Given the description of an element on the screen output the (x, y) to click on. 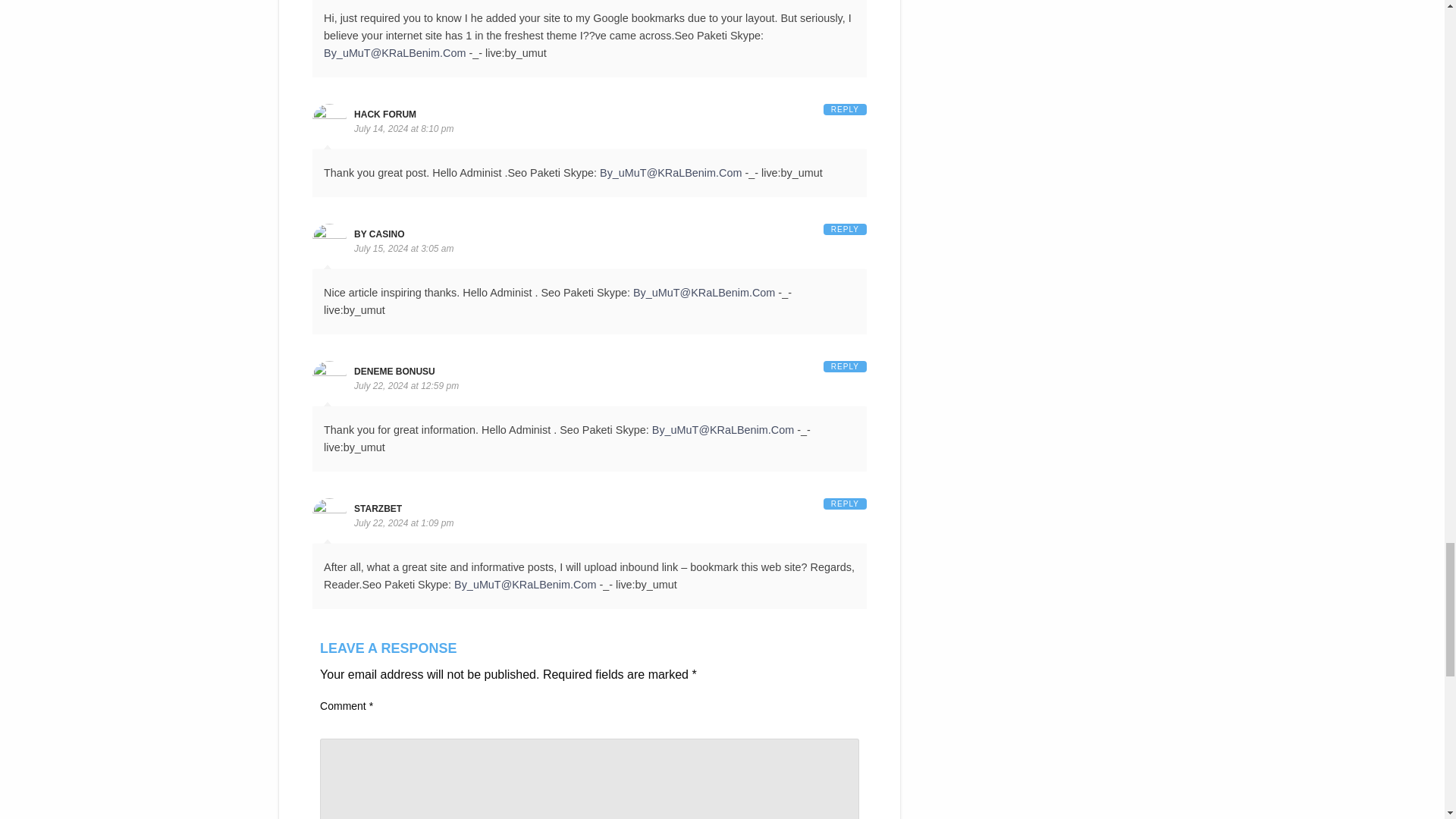
REPLY (845, 229)
REPLY (845, 366)
BY CASINO (378, 234)
July 15, 2024 at 3:05 am (402, 248)
July 22, 2024 at 1:09 pm (402, 522)
REPLY (845, 109)
STARZBET (377, 508)
REPLY (845, 503)
DENEME BONUSU (394, 371)
July 14, 2024 at 8:10 pm (402, 128)
July 22, 2024 at 12:59 pm (405, 385)
HACK FORUM (384, 113)
